Given the description of an element on the screen output the (x, y) to click on. 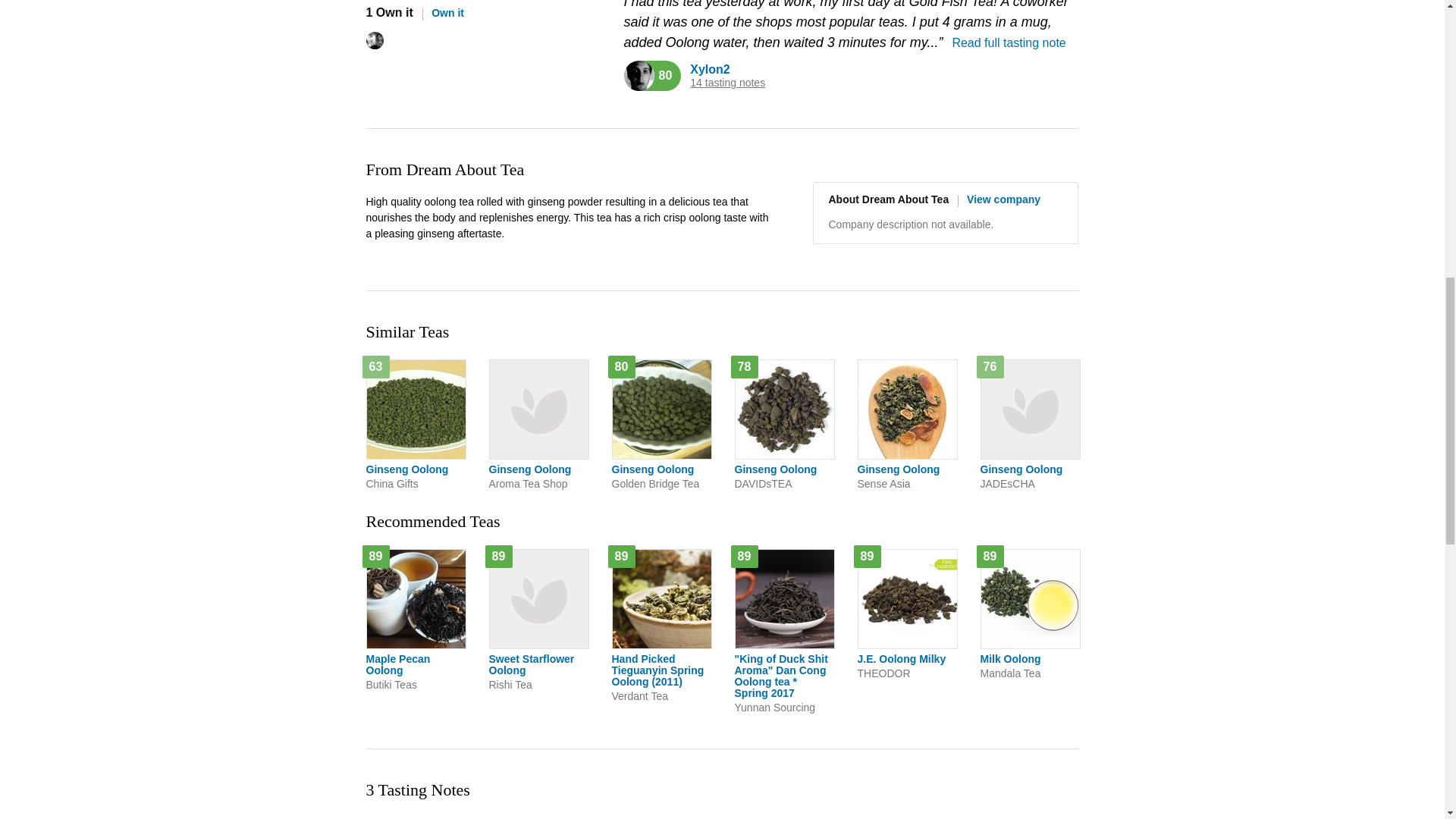
Xylon2 (709, 69)
Own it (443, 12)
Read full tasting note (1008, 42)
View company (999, 199)
14 tasting notes (727, 82)
